Given the description of an element on the screen output the (x, y) to click on. 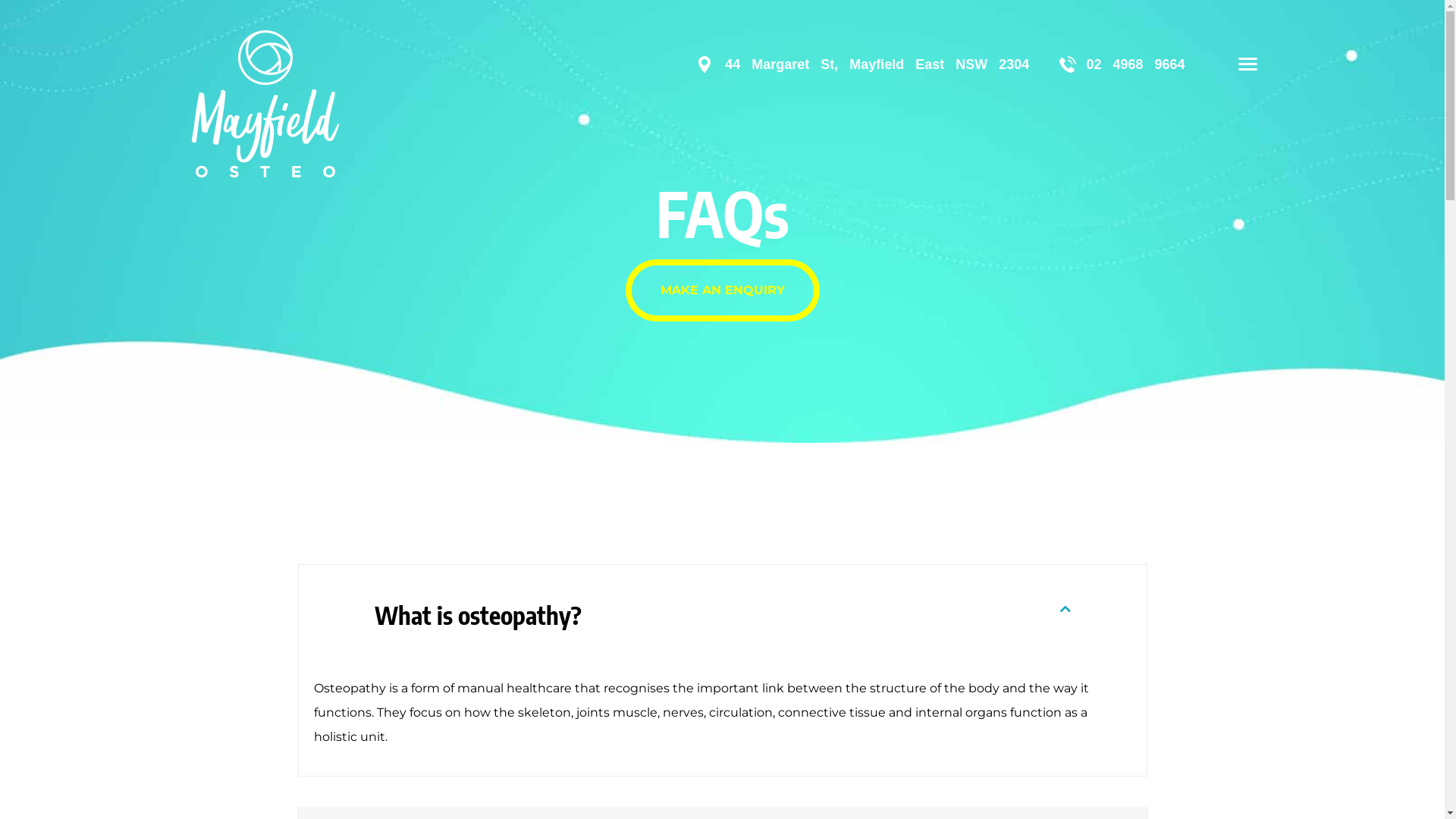
MAKE AN ENQUIRY Element type: text (721, 290)
44 Margaret St, Mayfield East NSW 2304 Element type: text (876, 63)
02 4968 9664 Element type: text (1134, 63)
What is osteopathy? Element type: text (477, 614)
